Given the description of an element on the screen output the (x, y) to click on. 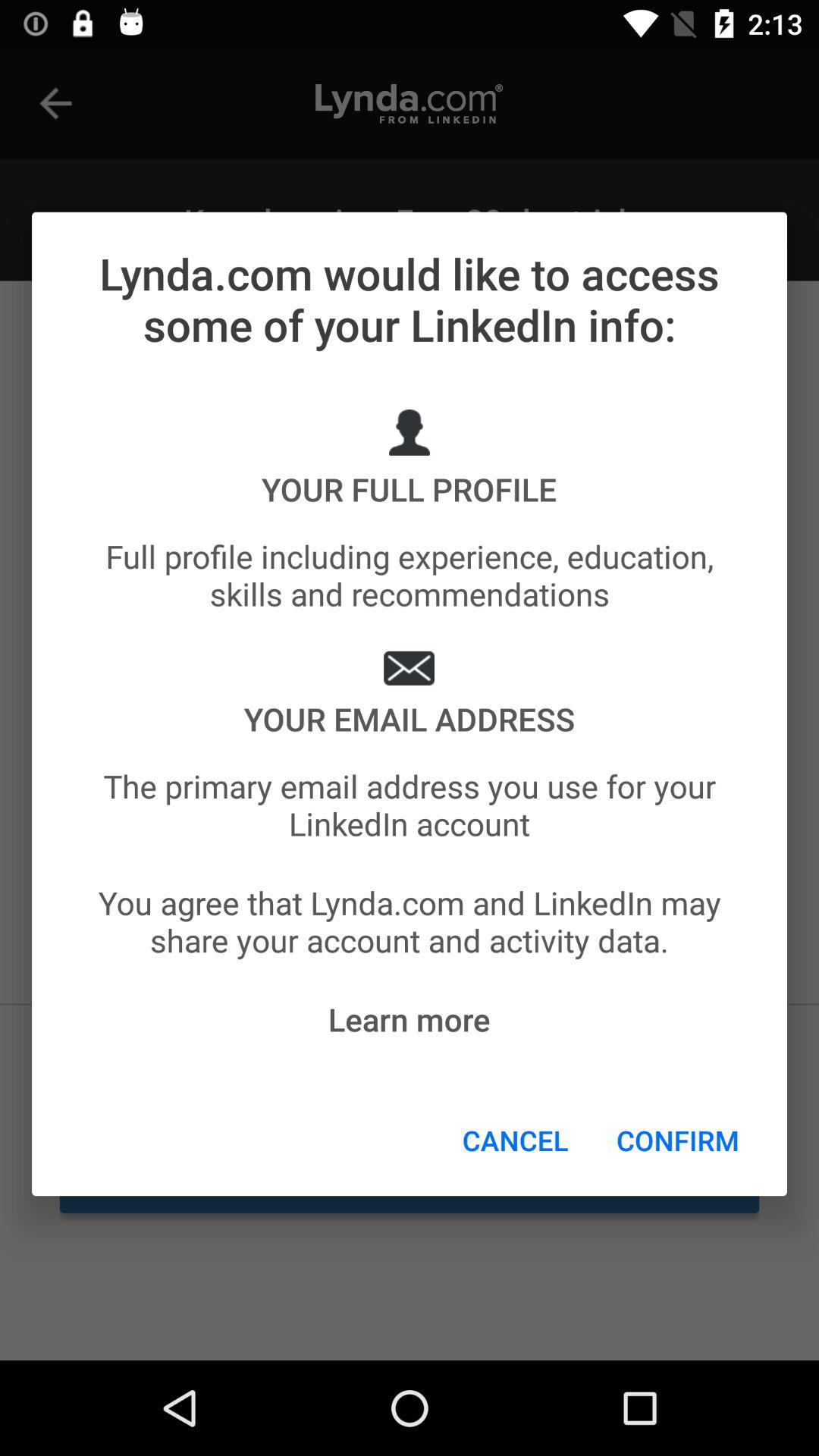
click item below you agree that item (677, 1140)
